Given the description of an element on the screen output the (x, y) to click on. 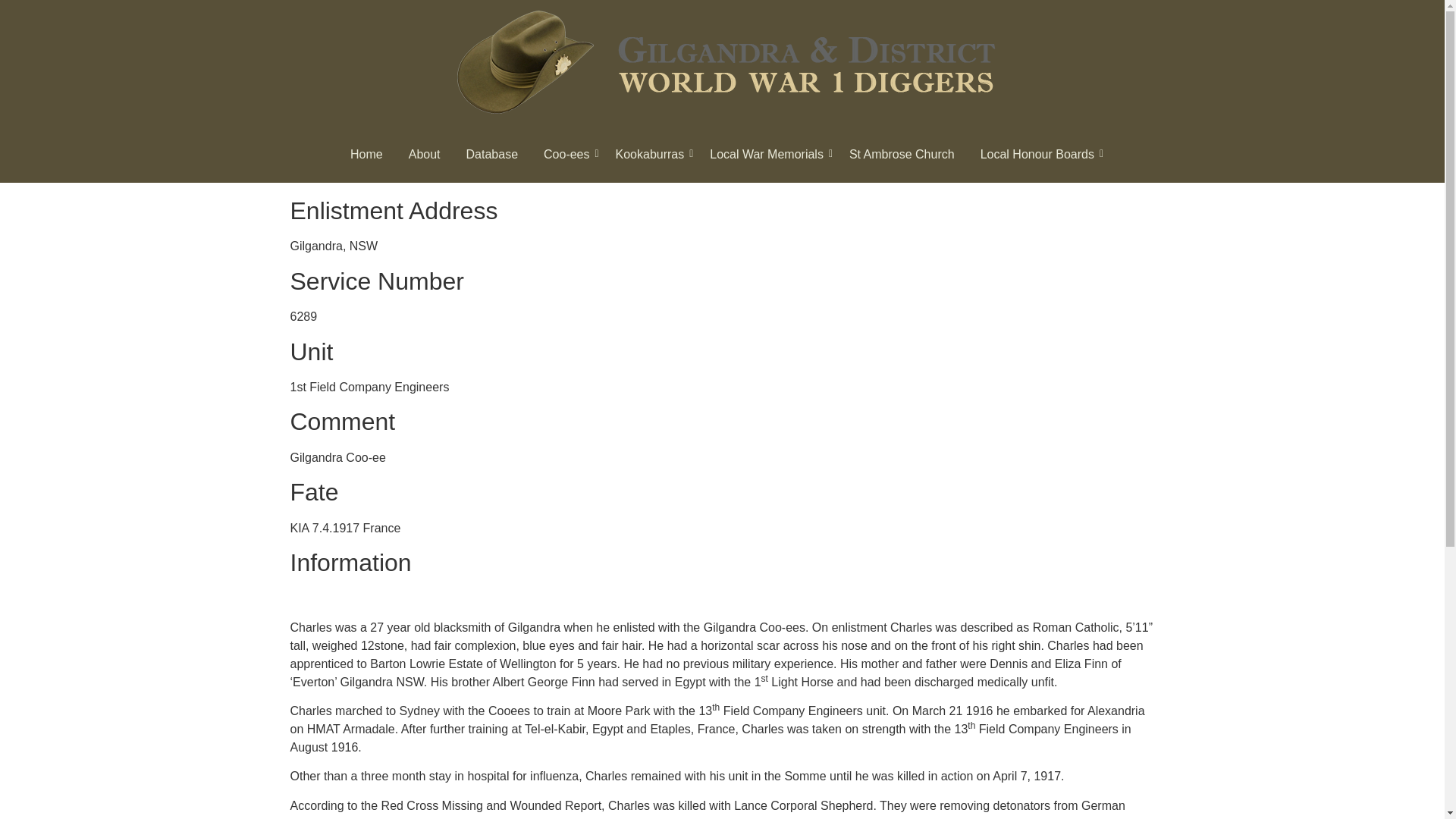
Local Honour Boards (1037, 155)
Home (366, 155)
Coo-ees (566, 155)
About (424, 155)
Kookaburras (650, 155)
Database (492, 155)
St Ambrose Church (901, 155)
Local War Memorials (766, 155)
